Given the description of an element on the screen output the (x, y) to click on. 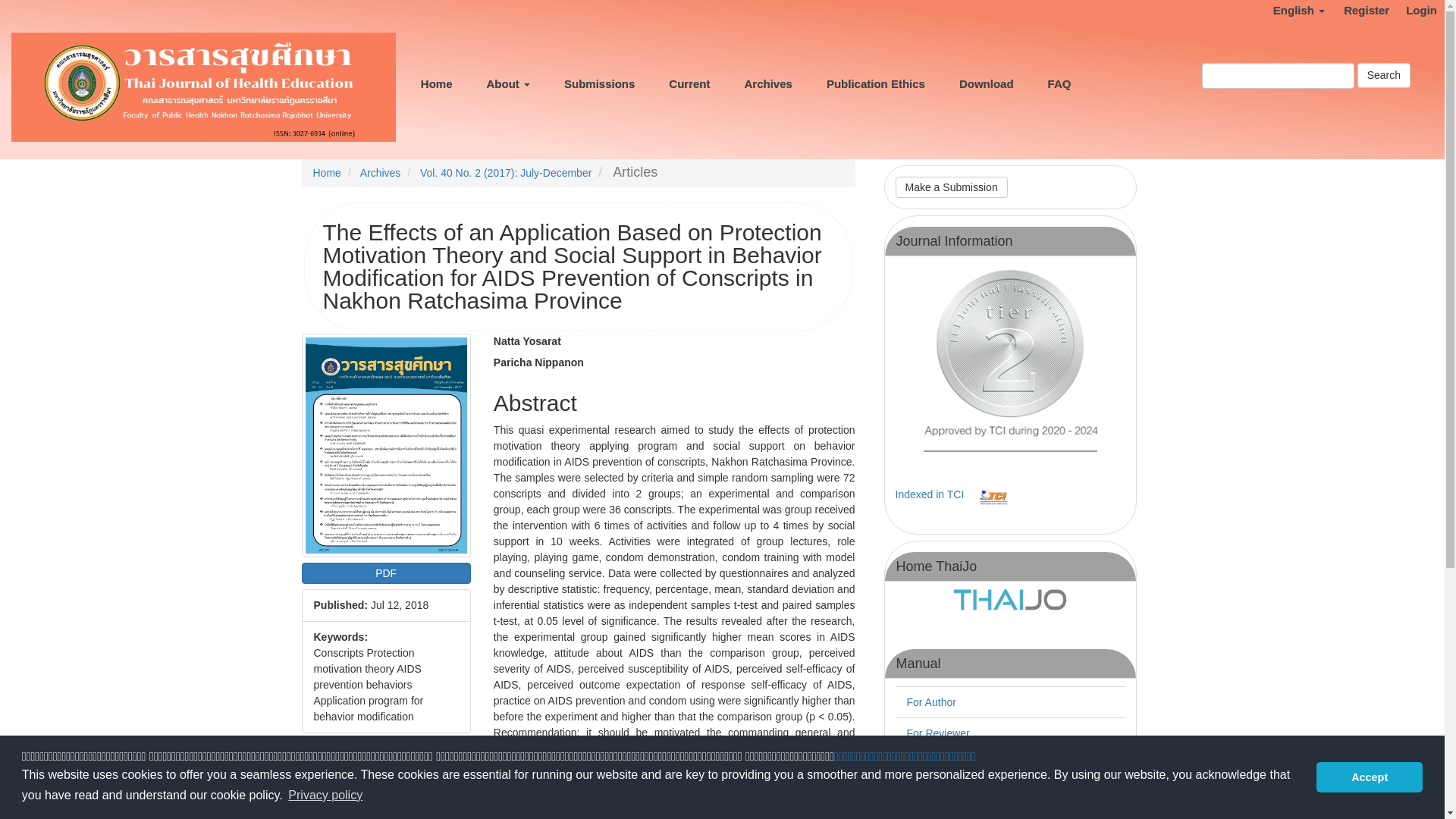
Publication Ethics (878, 62)
English (1299, 10)
Search (1383, 74)
Submissions (602, 62)
Accept (1369, 777)
home thaijo (1010, 598)
Archives (771, 62)
PDF (385, 572)
Download (988, 62)
For Reviewer (938, 733)
